Given the description of an element on the screen output the (x, y) to click on. 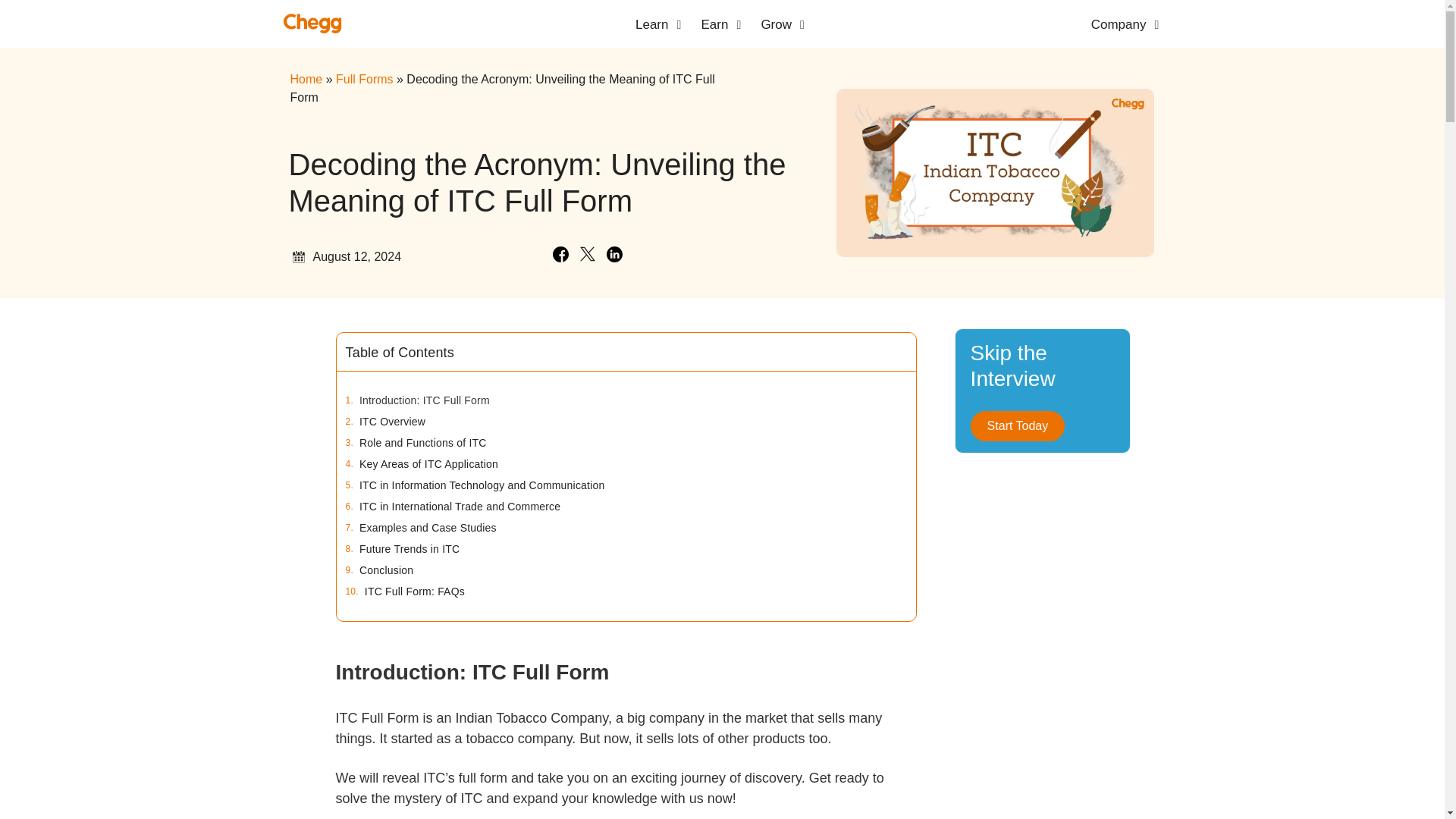
Company (1118, 25)
Grow (776, 25)
Earn (714, 25)
Learn (651, 25)
